Given the description of an element on the screen output the (x, y) to click on. 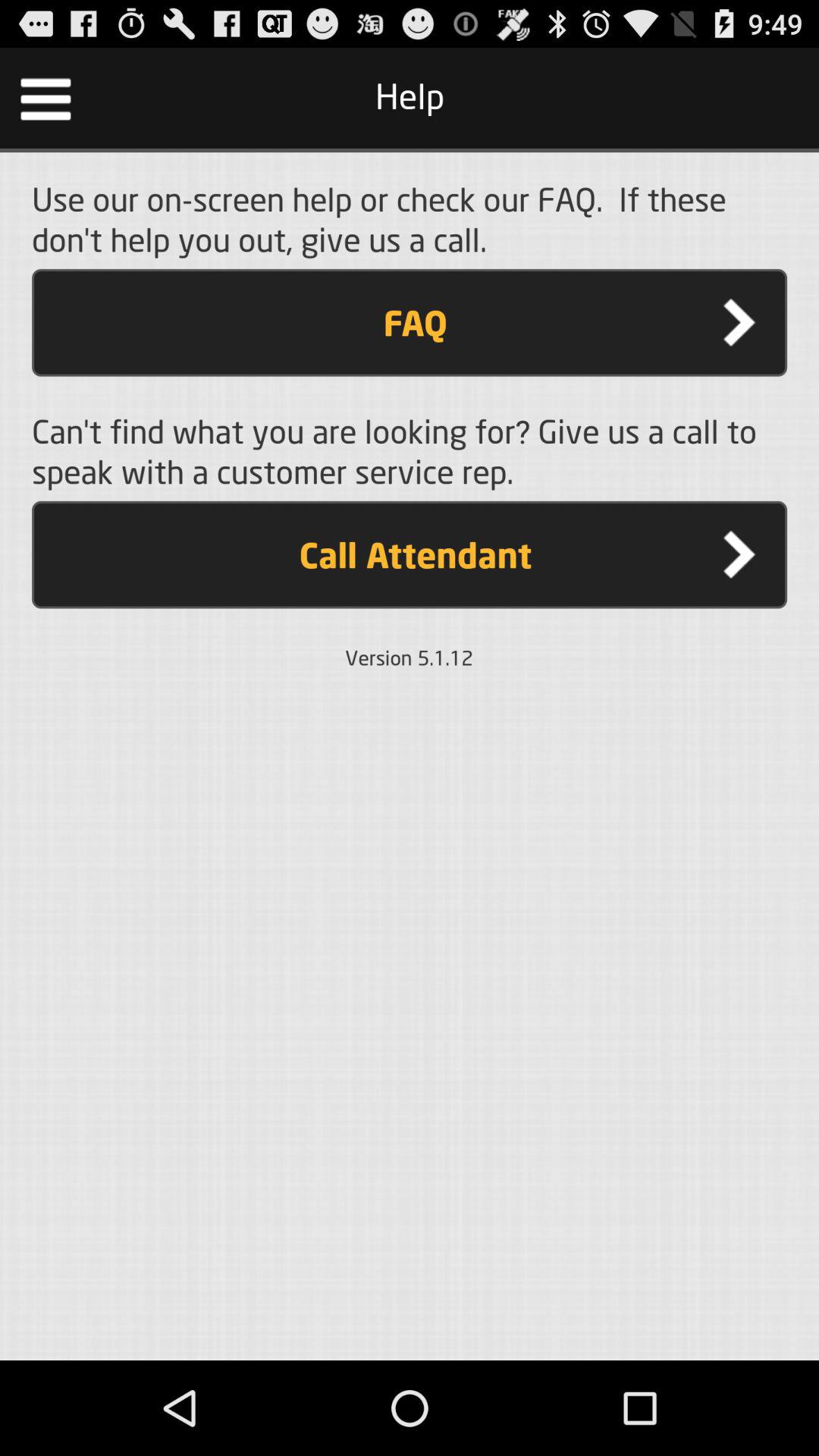
open the item above the version 5 1 item (409, 554)
